Given the description of an element on the screen output the (x, y) to click on. 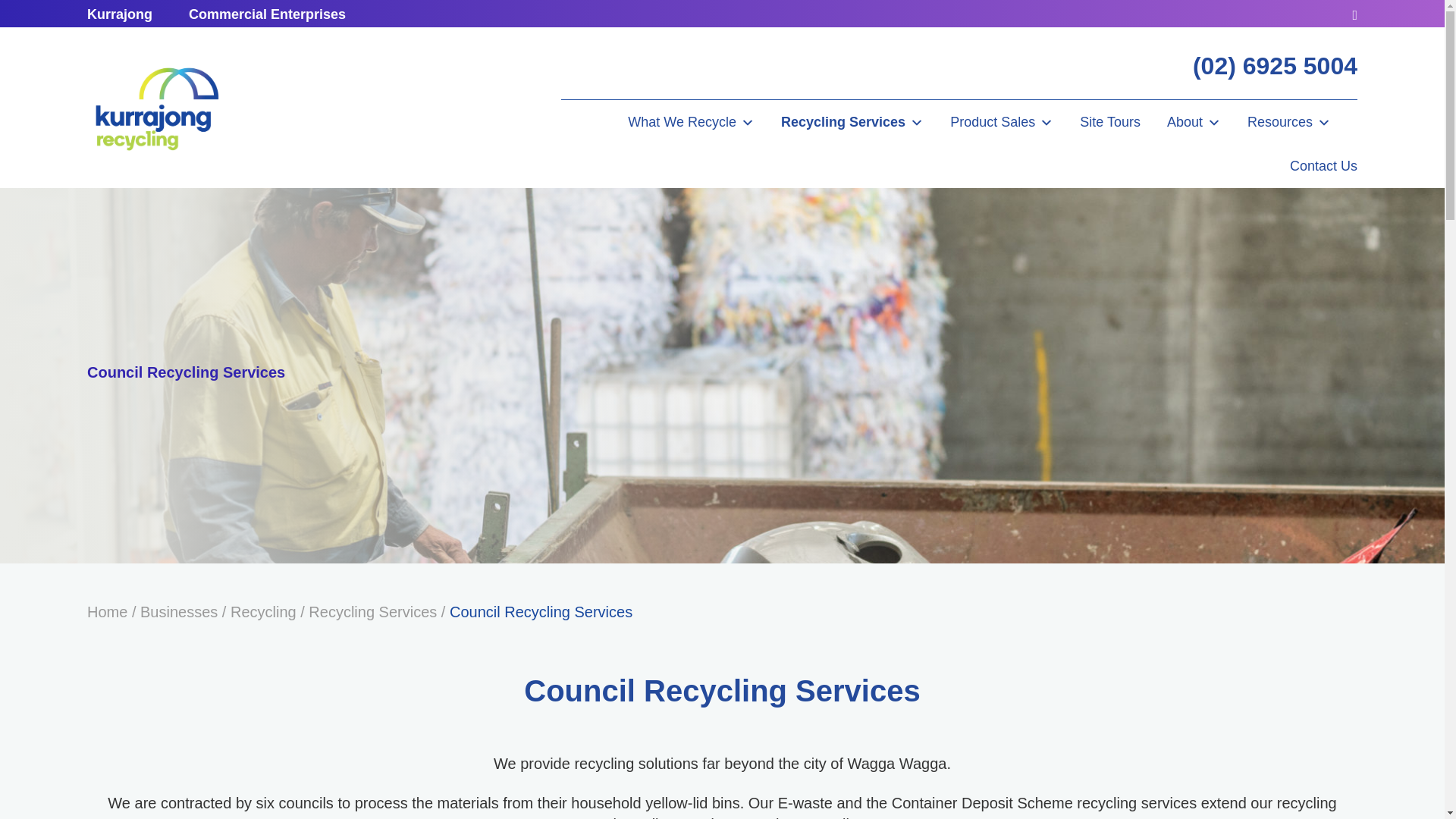
Site Tours (1110, 121)
Kurrajong (119, 14)
Recycling Services (851, 121)
About (1194, 121)
Commercial Enterprises (267, 14)
Contact Us (1323, 166)
Kurrajong (155, 107)
What We Recycle (690, 121)
Product Sales (1001, 121)
Resources (1288, 121)
